Given the description of an element on the screen output the (x, y) to click on. 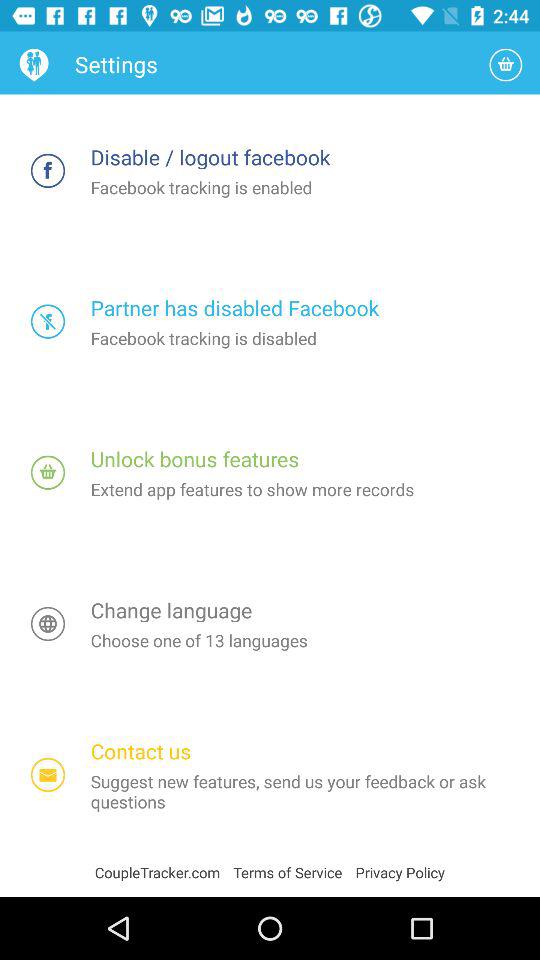
tap app next to privacy policy icon (294, 872)
